Given the description of an element on the screen output the (x, y) to click on. 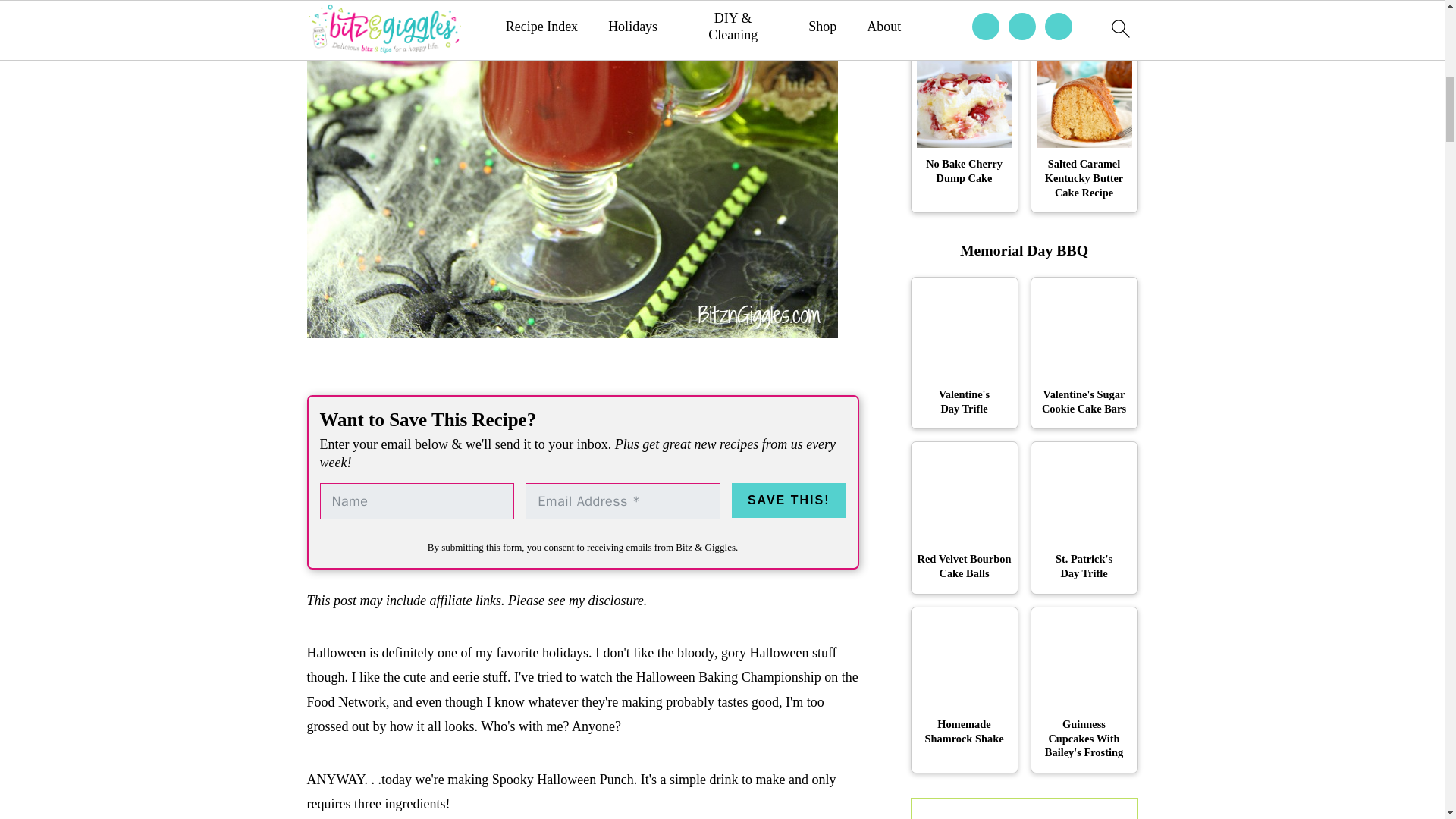
SAVE THIS! (788, 500)
